Given the description of an element on the screen output the (x, y) to click on. 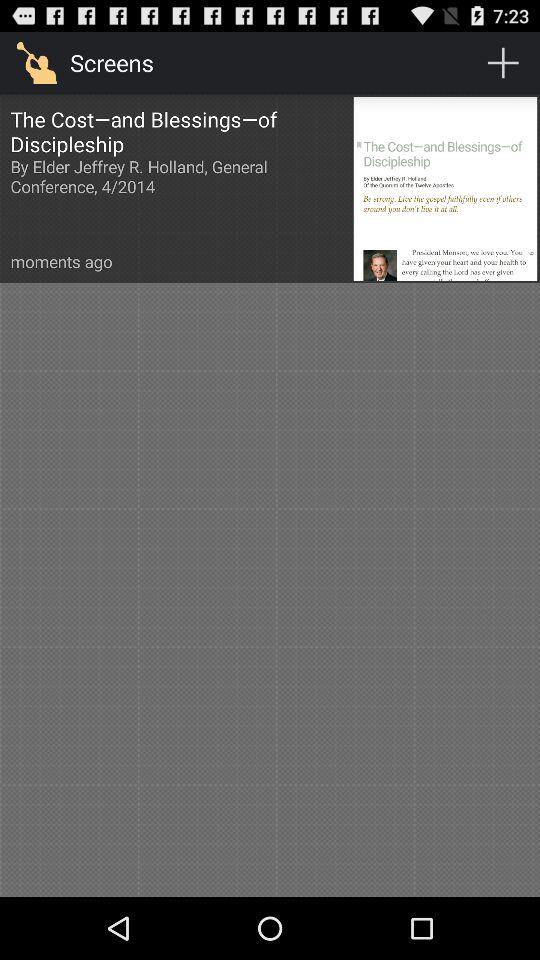
click app below the the cost and (61, 261)
